Given the description of an element on the screen output the (x, y) to click on. 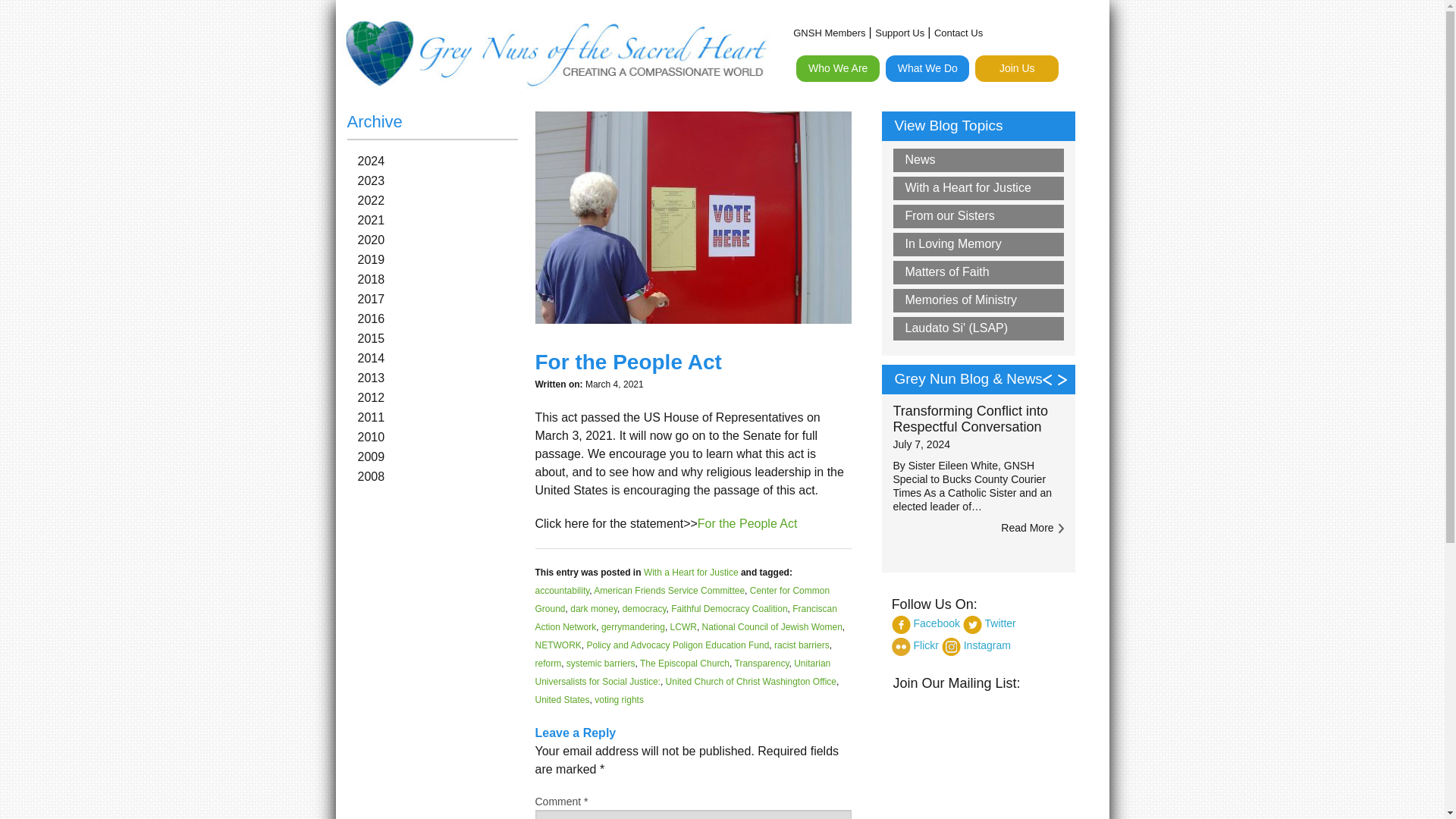
Support Us (899, 33)
Other Grey Nun Congregations (882, 232)
accountability (562, 590)
American Friends Service Committee (669, 590)
What We Do (927, 68)
Contact Us (958, 33)
Faithful Democracy Coalition (729, 608)
Celebrating our 100th Anniversary 1921-2021 (882, 103)
With a Heart for Justice (690, 572)
